Given the description of an element on the screen output the (x, y) to click on. 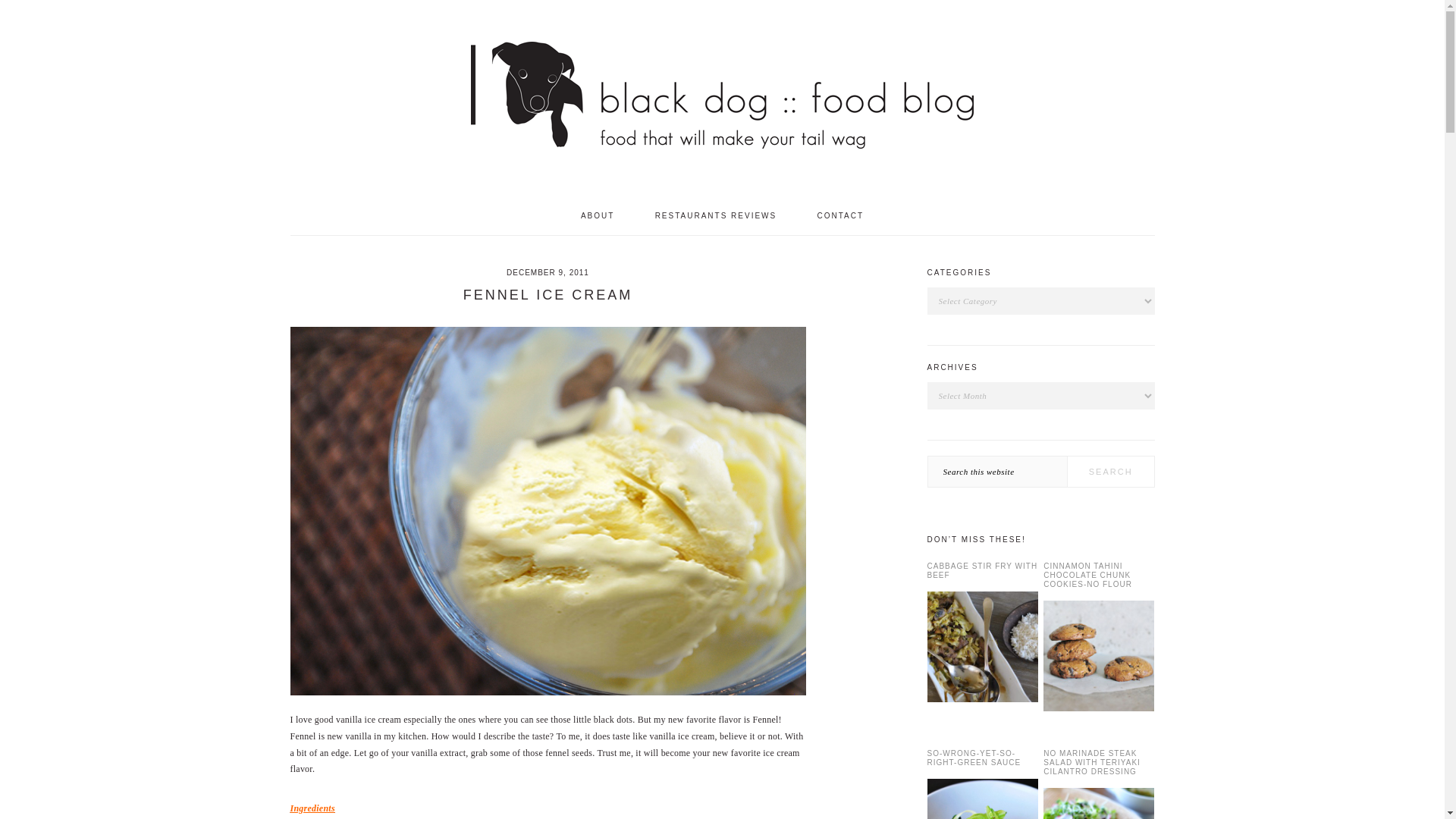
Cabbage Stir Fry with Beef (981, 649)
CINNAMON TAHINI CHOCOLATE CHUNK COOKIES-NO FLOUR (1087, 574)
SO-WRONG-YET-SO-RIGHT-GREEN SAUCE (973, 757)
CONTACT (839, 216)
So-wrong-yet-so-right-Green Sauce (981, 798)
RESTAURANTS REVIEWS (716, 216)
No Marinade Steak Salad with Teriyaki Cilantro Dressing (1098, 803)
Search (1110, 471)
Search (1110, 471)
BLACK DOG :: FOOD BLOG (722, 98)
Search (1110, 471)
NO MARINADE STEAK SALAD WITH TERIYAKI CILANTRO DRESSING (1091, 762)
Cinnamon Tahini Chocolate chunk Cookies-no flour (1098, 658)
CABBAGE STIR FRY WITH BEEF (981, 570)
